Given the description of an element on the screen output the (x, y) to click on. 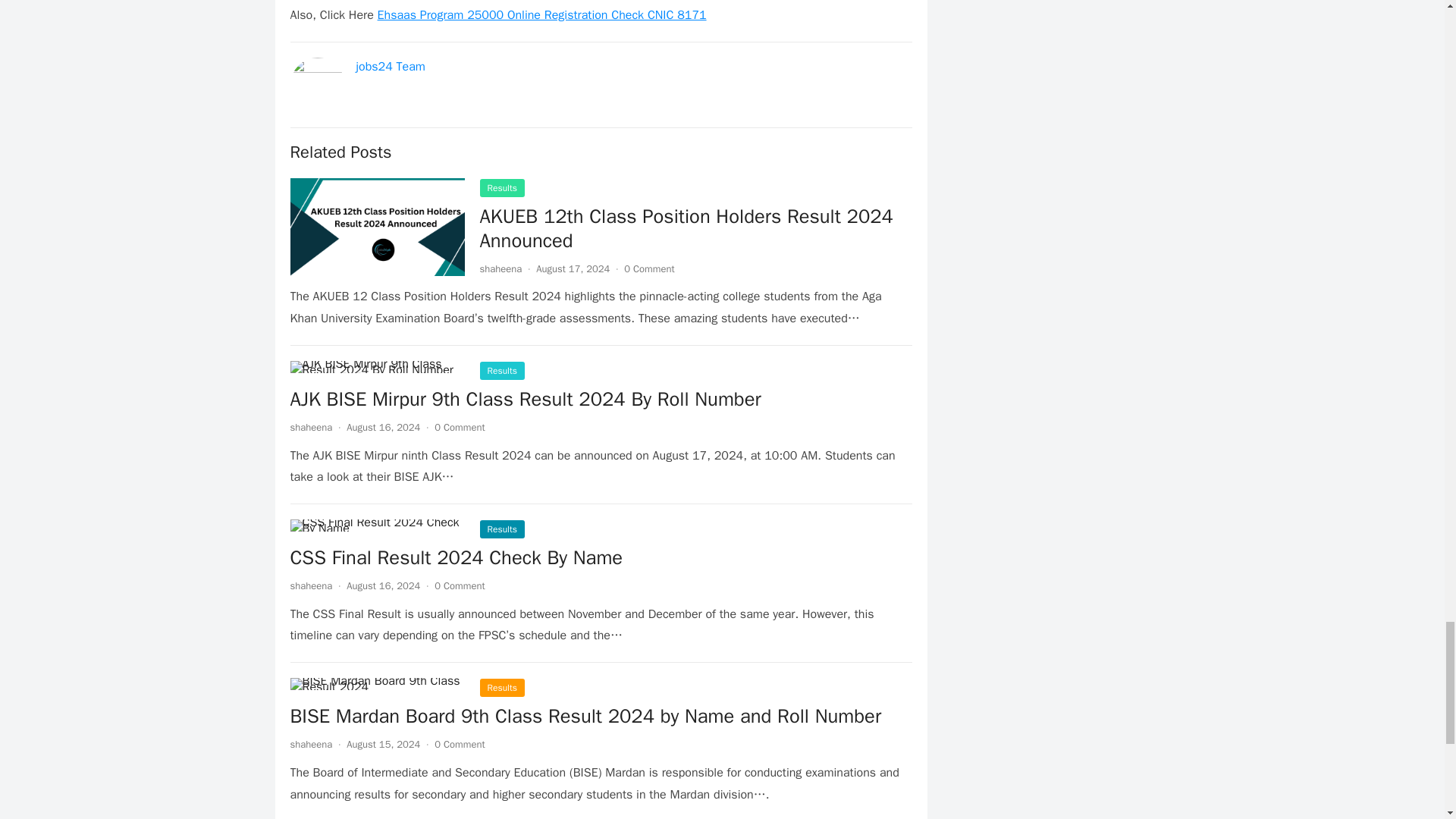
Results (501, 188)
0 Comment (458, 427)
Posts by shaheena (310, 744)
AJK BISE Mirpur 9th Class Result 2024 By Roll Number (524, 398)
jobs24 Team (390, 66)
Posts by shaheena (310, 585)
shaheena (310, 427)
Results (501, 370)
0 Comment (649, 268)
shaheena (500, 268)
